Given the description of an element on the screen output the (x, y) to click on. 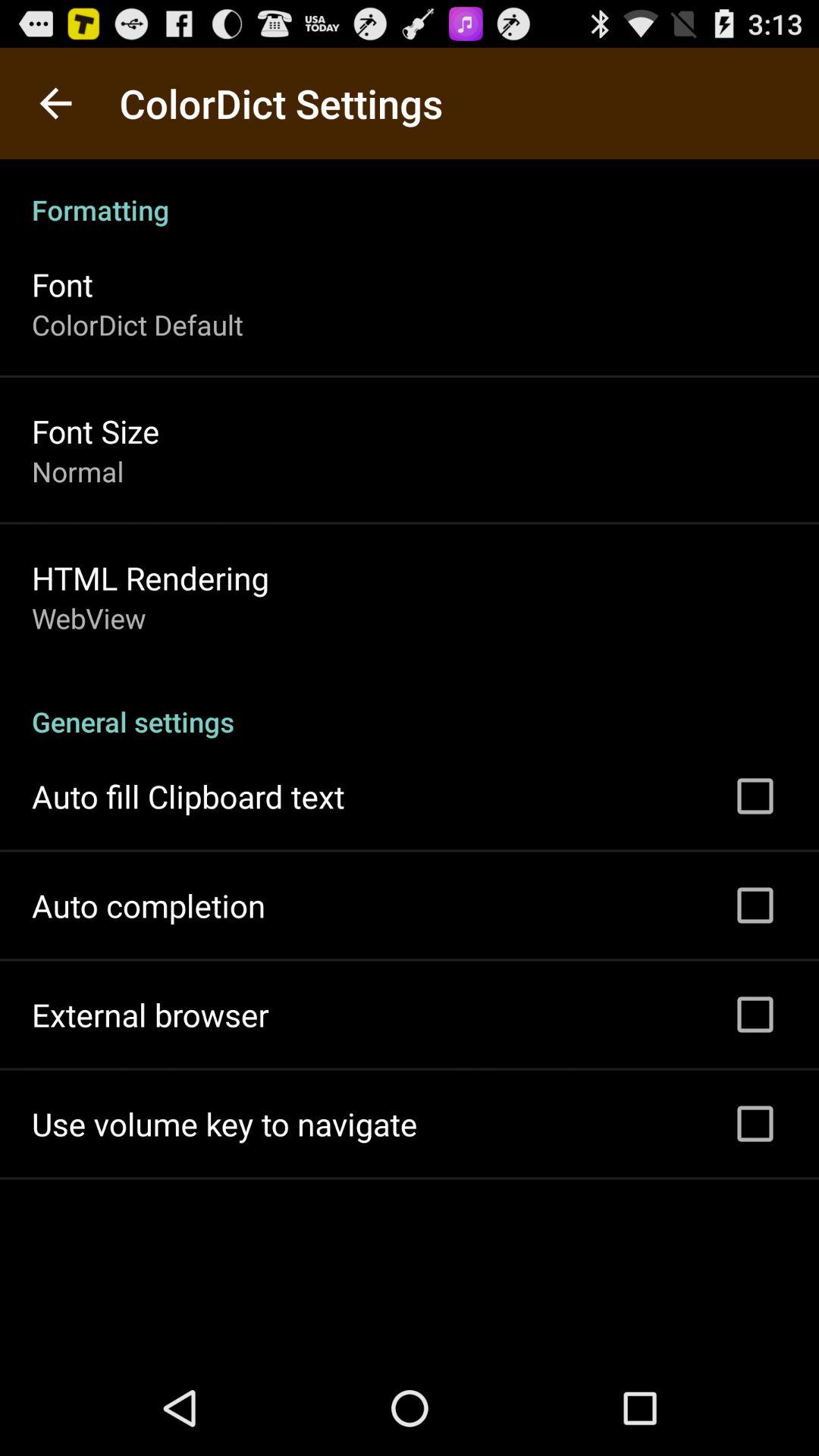
jump to the use volume key (224, 1123)
